Given the description of an element on the screen output the (x, y) to click on. 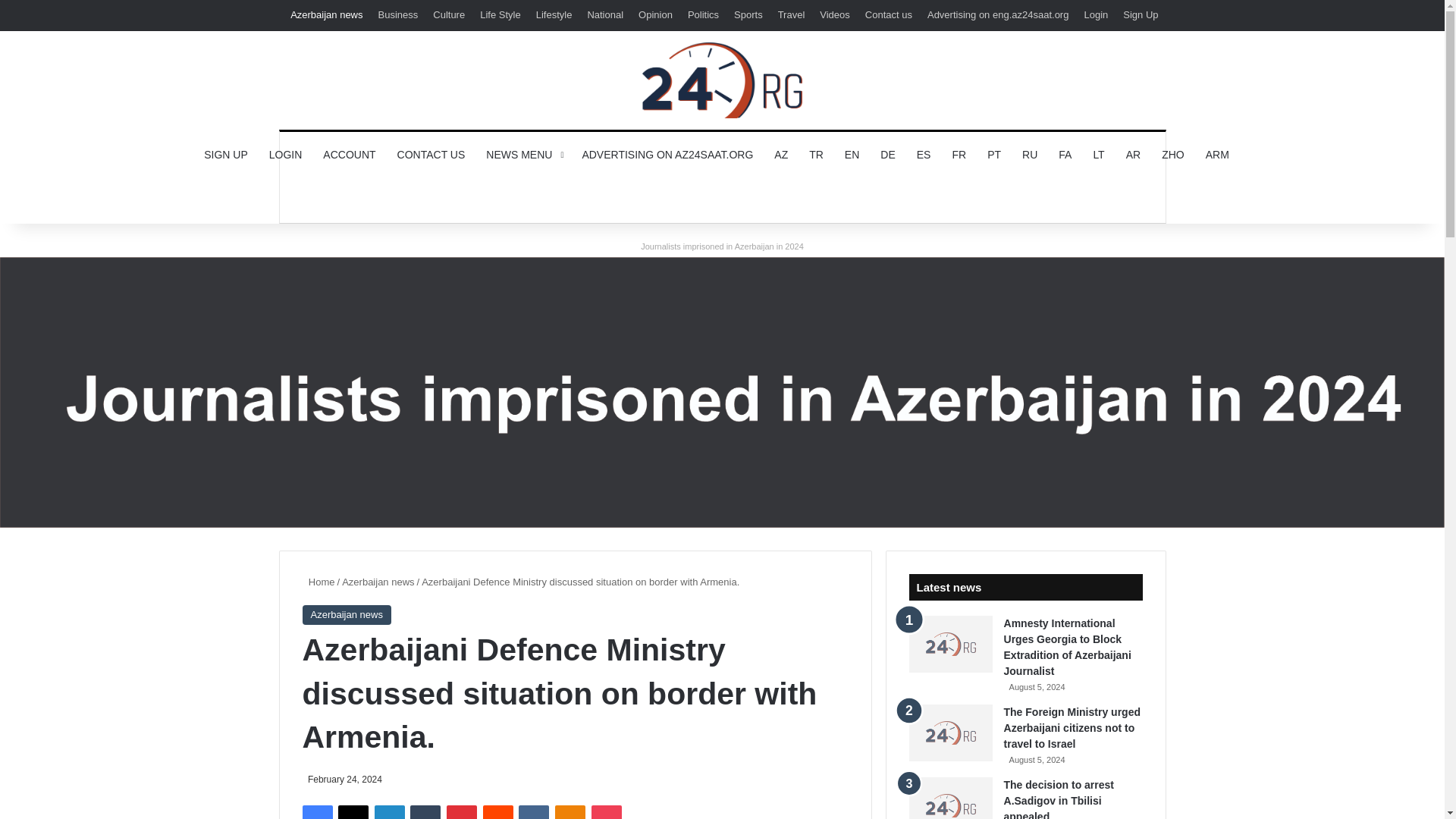
Lifestyle (553, 15)
LinkedIn (389, 812)
Login (1095, 15)
VKontakte (533, 812)
LOGIN (286, 154)
Travel (791, 15)
NEWS MENU (523, 154)
Business (398, 15)
Tumblr (425, 812)
SIGN UP (226, 154)
